Given the description of an element on the screen output the (x, y) to click on. 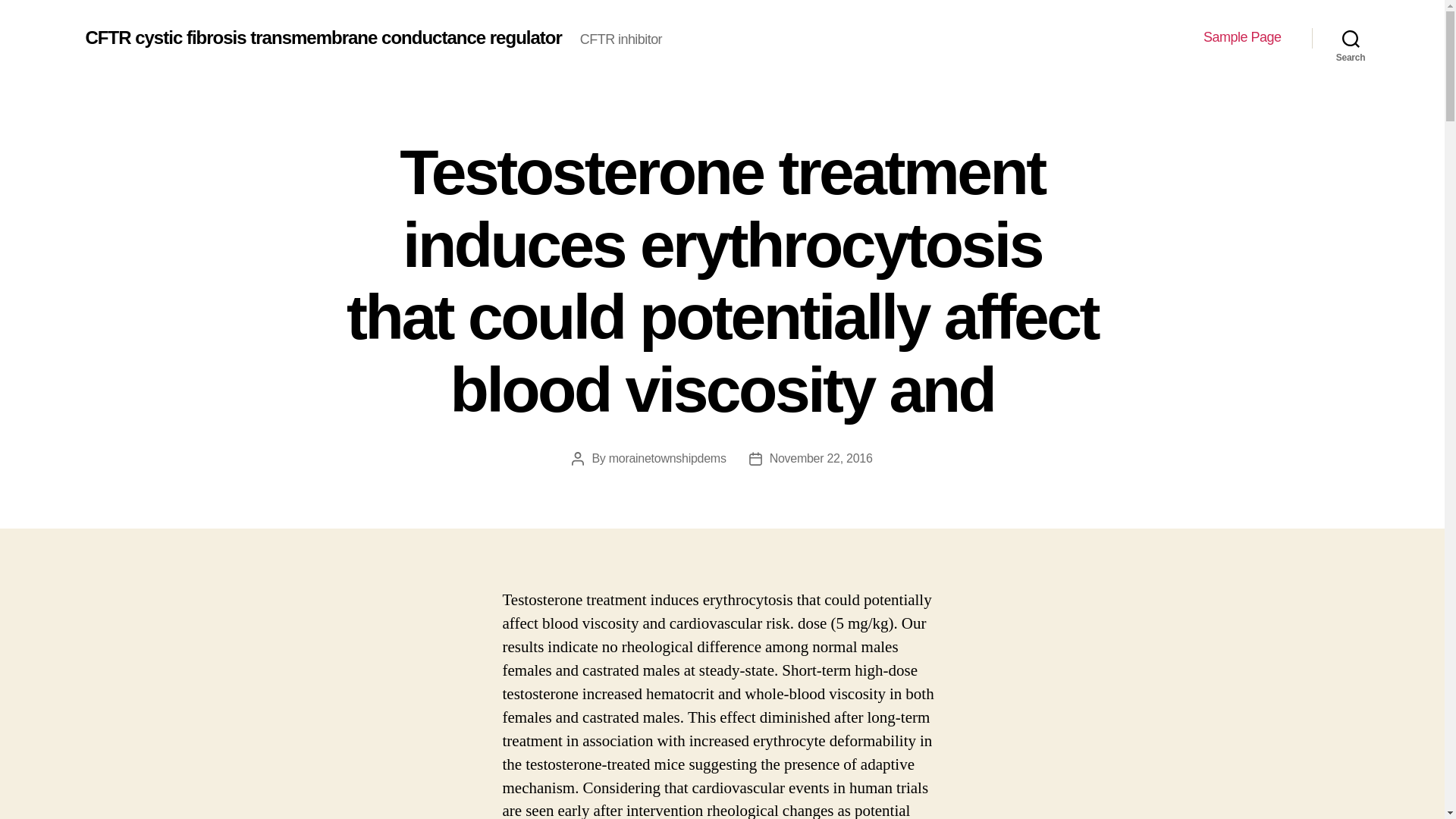
Search (1350, 37)
CFTR cystic fibrosis transmembrane conductance regulator (322, 37)
morainetownshipdems (667, 458)
November 22, 2016 (821, 458)
Sample Page (1242, 37)
